Given the description of an element on the screen output the (x, y) to click on. 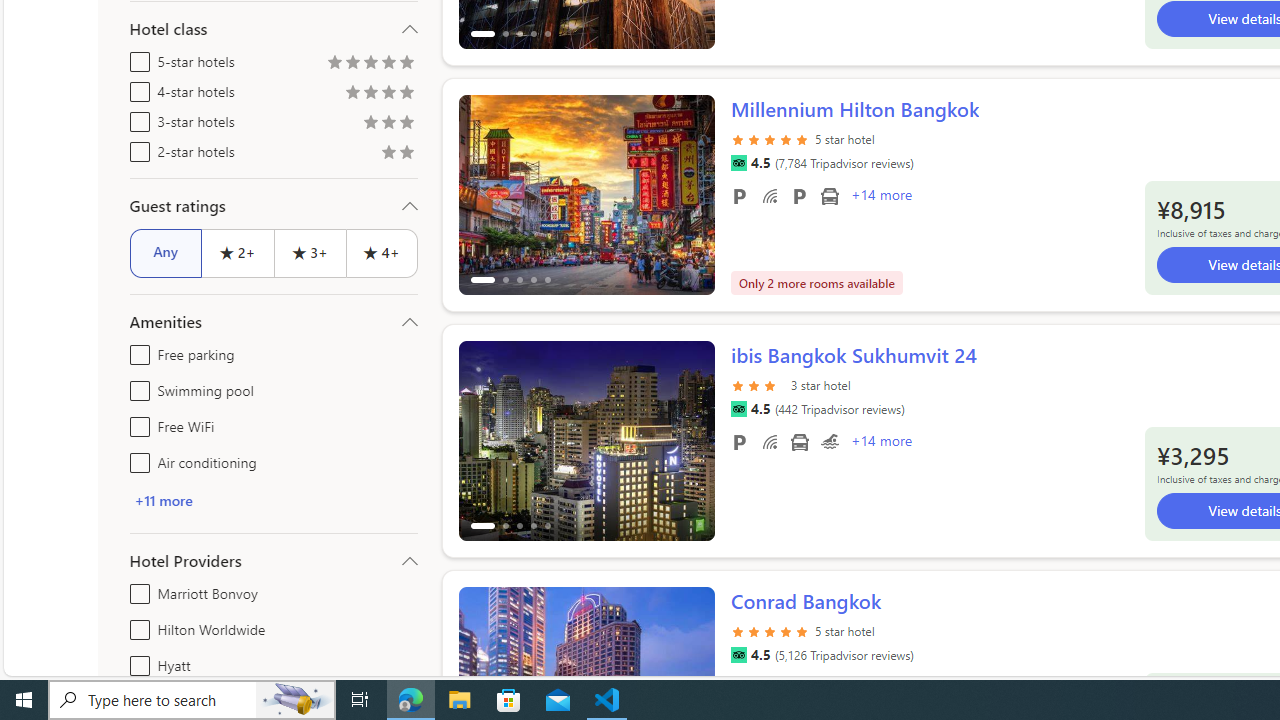
Hotel Providers (273, 560)
Any (165, 252)
Slide 1 (586, 440)
Valet parking (798, 196)
Hyatt (136, 661)
Free WiFi (136, 422)
2+ (236, 252)
3+ (308, 252)
+14 More Amenities (880, 443)
ScrollRight (690, 678)
ScrollLeft (482, 678)
Free WiFi (769, 441)
3-star hotels (136, 118)
4+ (381, 252)
Hotel class (273, 29)
